Given the description of an element on the screen output the (x, y) to click on. 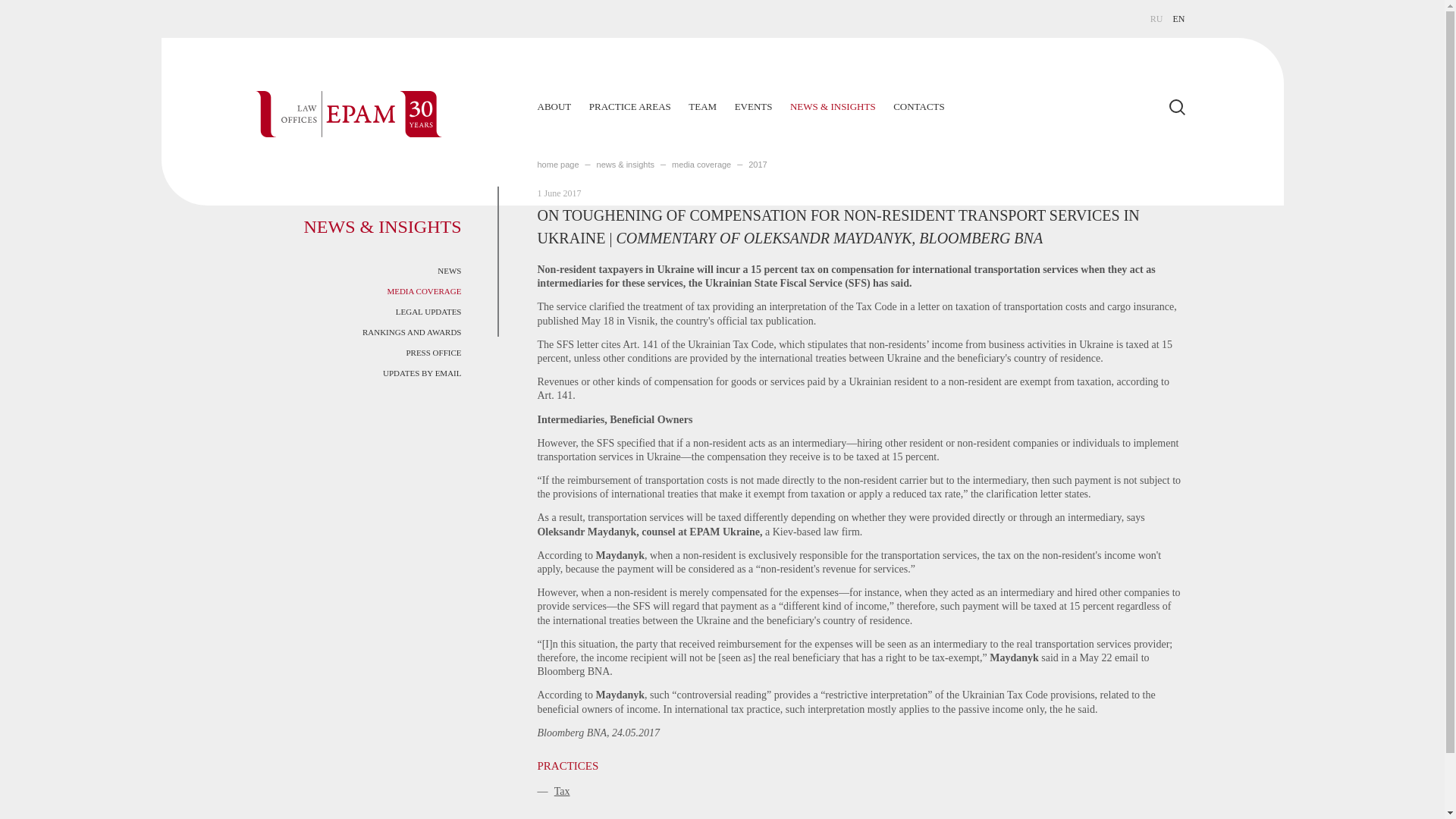
RU (1156, 18)
PRACTICE AREAS (630, 106)
EVENTS (754, 106)
TEAM (702, 106)
ABOUT (553, 106)
CONTACTS (918, 106)
